Given the description of an element on the screen output the (x, y) to click on. 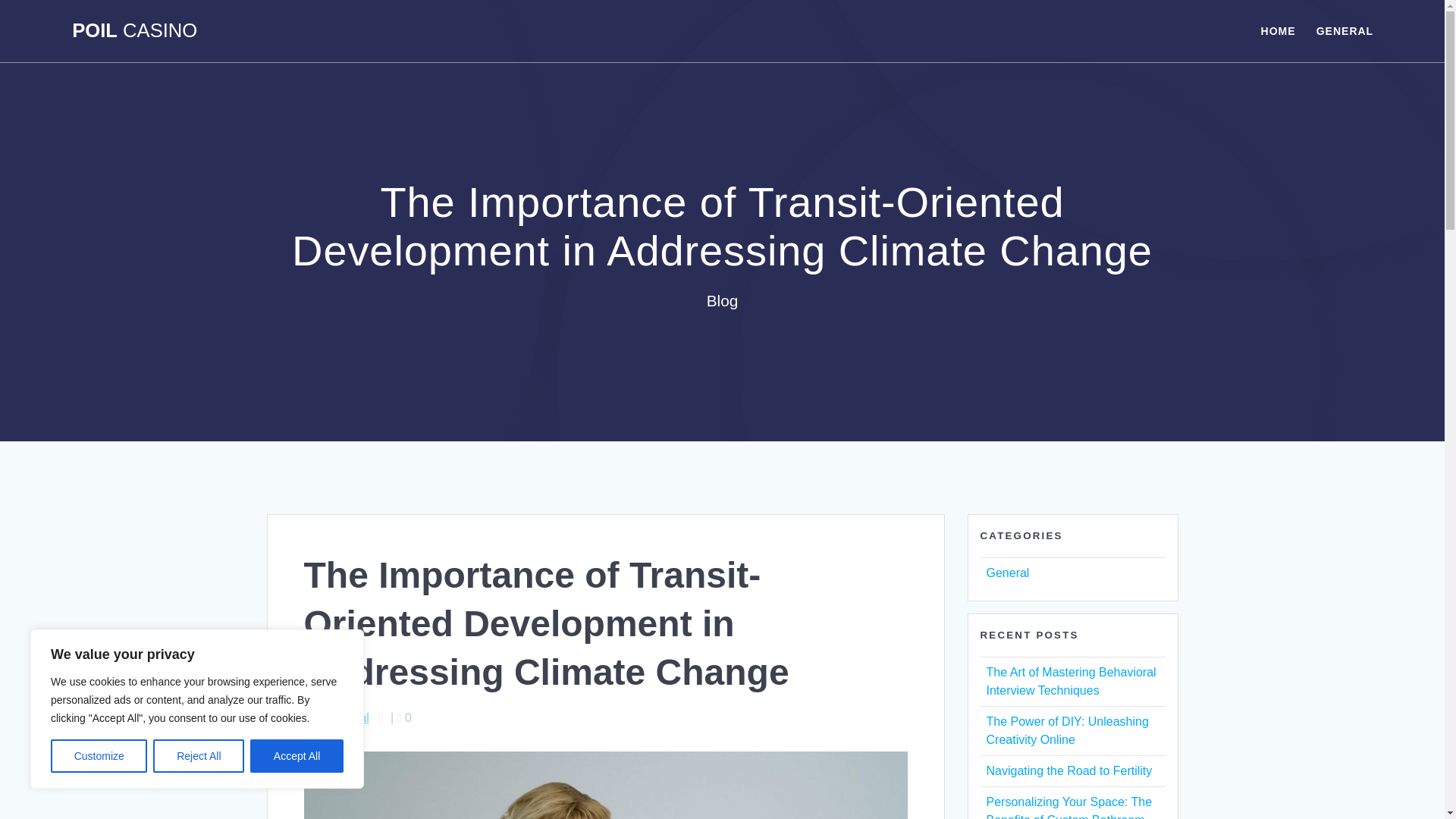
Navigating the Road to Fertility (1068, 770)
POIL CASINO (133, 30)
The Power of DIY: Unleashing Creativity Online (1066, 730)
General (1007, 572)
The Art of Mastering Behavioral Interview Techniques (1070, 680)
Reject All (198, 756)
Customize (98, 756)
GENERAL (1344, 30)
Accept All (296, 756)
